Given the description of an element on the screen output the (x, y) to click on. 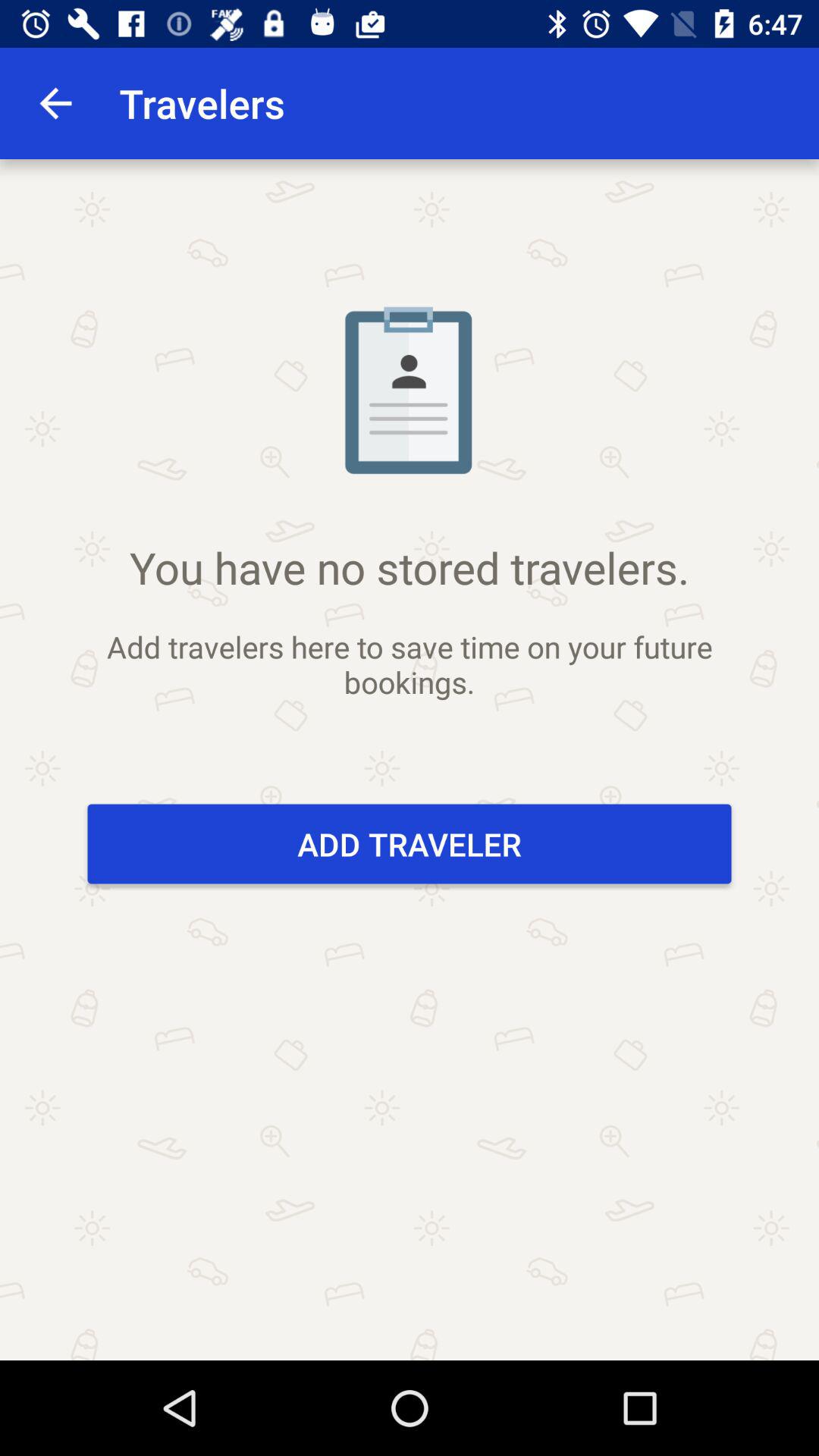
tap the add traveler item (409, 843)
